Given the description of an element on the screen output the (x, y) to click on. 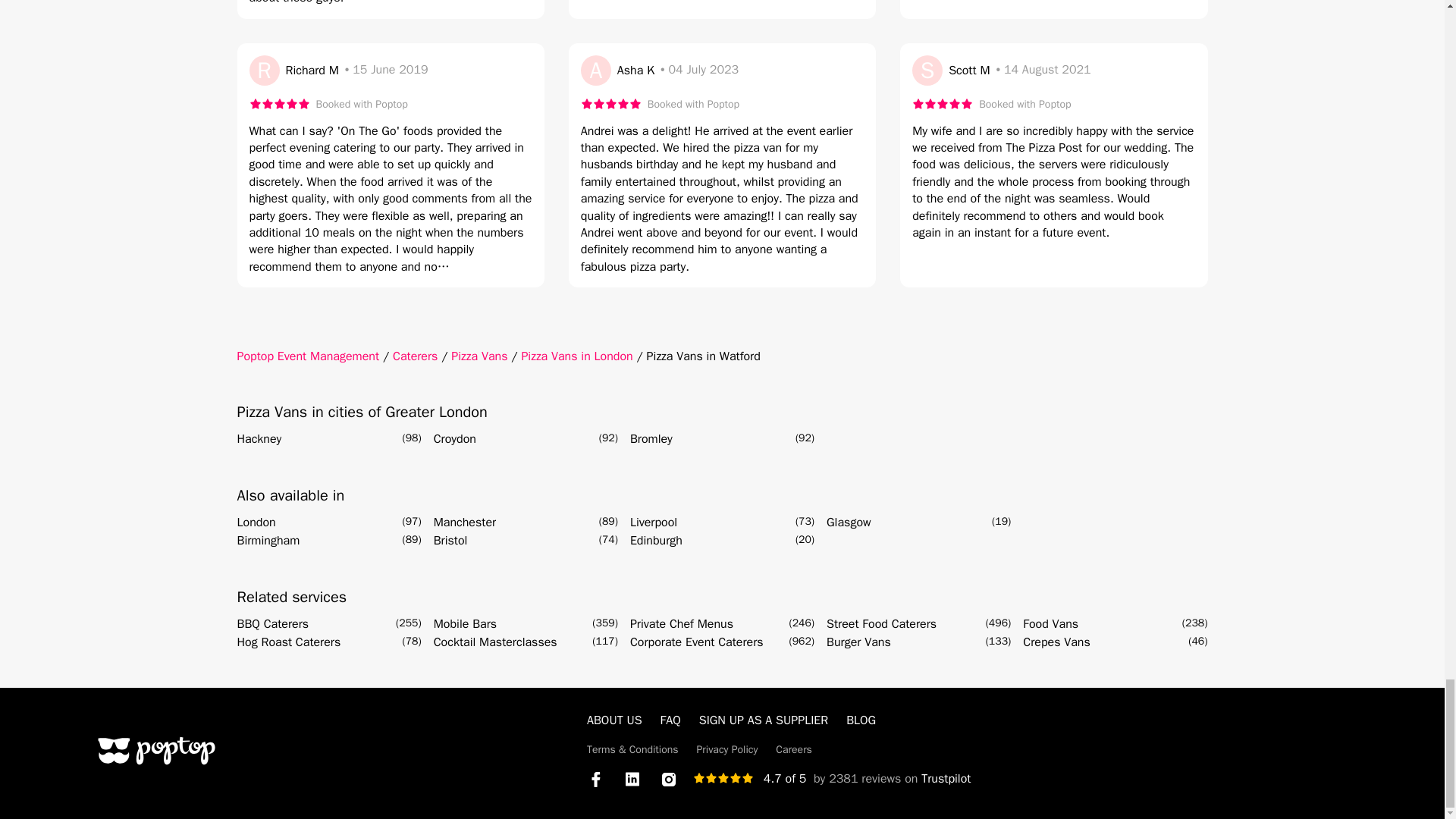
ABOUT US (614, 720)
Bristol (450, 540)
Manchester (464, 522)
Burger Vans (859, 642)
Mobile Bars (464, 624)
Birmingham (267, 540)
SIGN UP AS A SUPPLIER (763, 720)
Edinburgh (656, 540)
BBQ Caterers (271, 624)
Poptop Event Management (306, 355)
Bromley (651, 438)
Private Chef Menus (681, 624)
Pizza Vans (478, 355)
Pizza Vans in London (576, 355)
Food Vans (1050, 624)
